Given the description of an element on the screen output the (x, y) to click on. 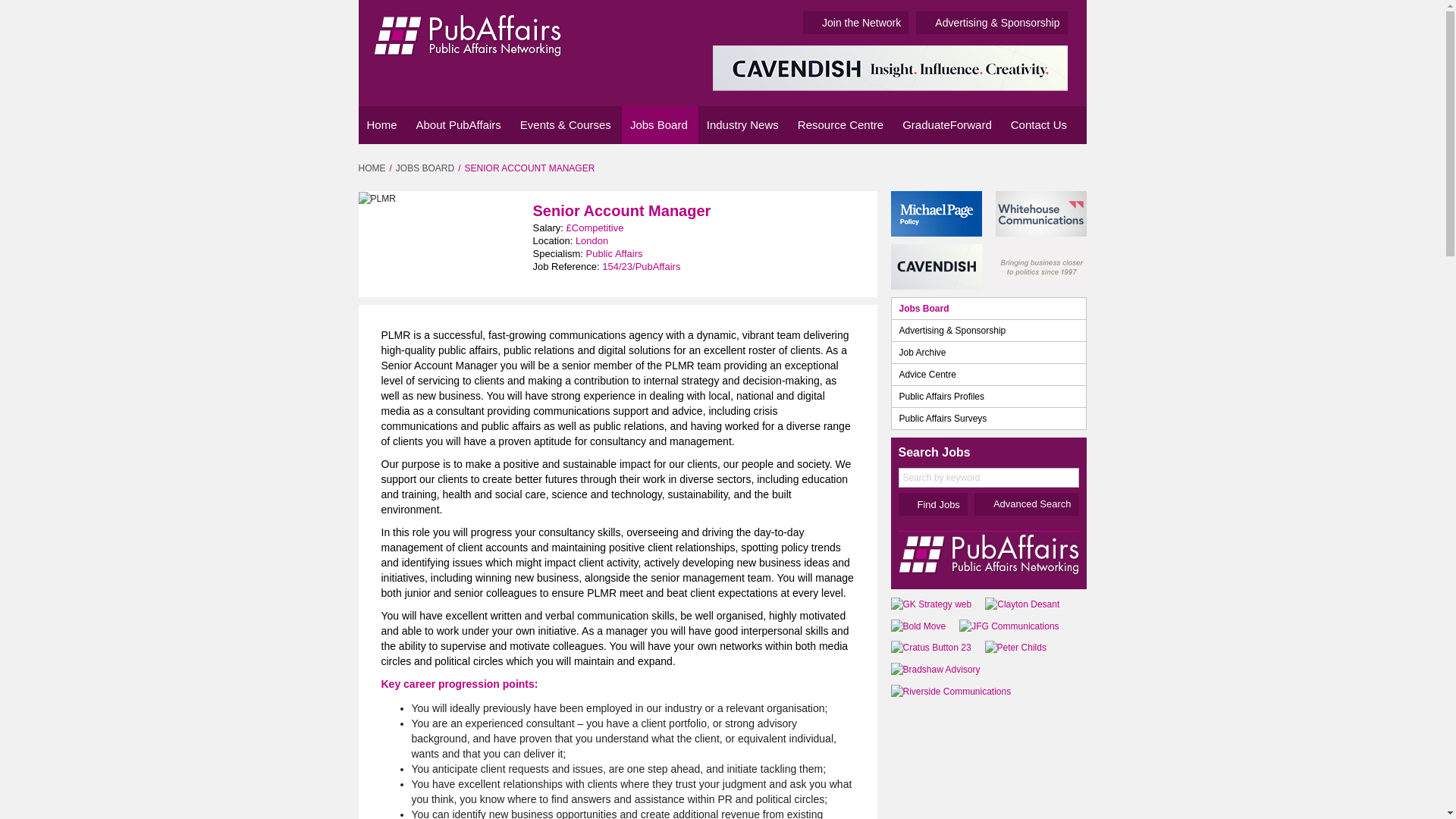
Follow PubAffairs on Youtube (1071, 167)
Find Jobs (932, 504)
Home (382, 125)
About PubAffairs (459, 125)
Jobs Board (659, 125)
Follow PubAffairs on Twitter (1048, 167)
Join the Network (855, 22)
Connect with PubAffairs on LinkedIn (1026, 167)
